Given the description of an element on the screen output the (x, y) to click on. 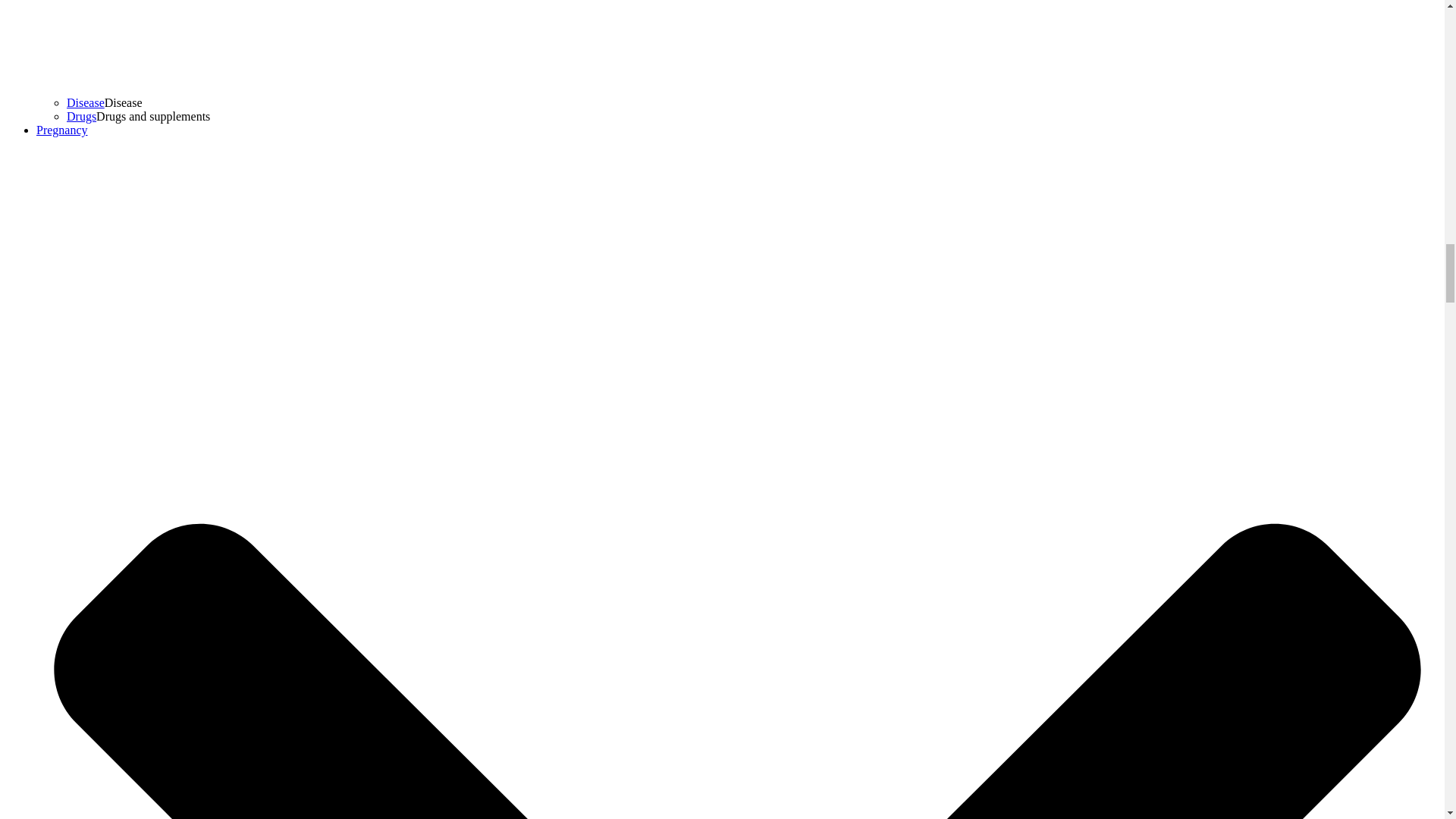
Disease (85, 102)
Disease (85, 102)
Drugs (81, 115)
Drugs (81, 115)
